Given the description of an element on the screen output the (x, y) to click on. 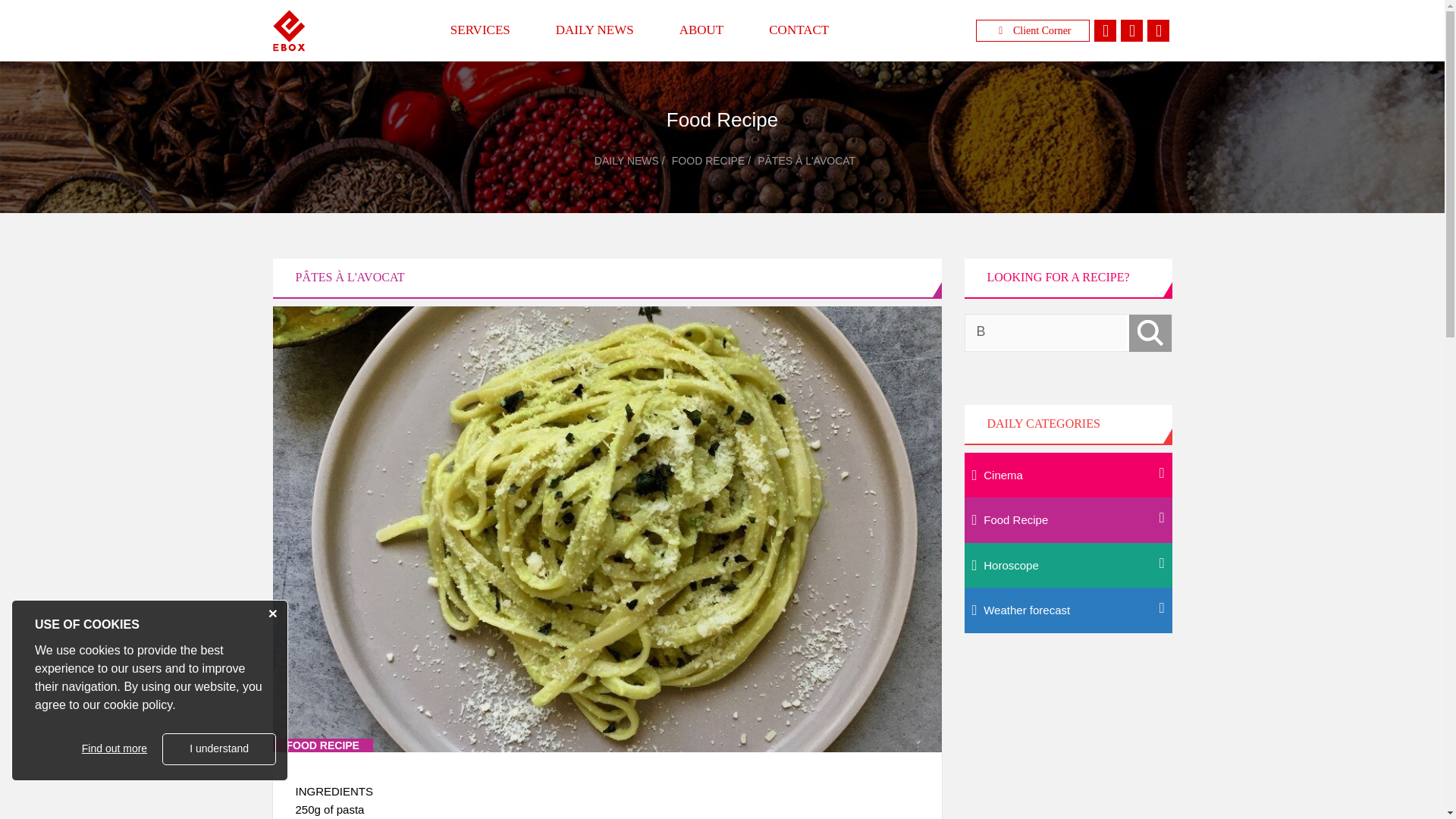
Services (480, 30)
About (701, 30)
Cinema (1067, 474)
CONTACT (798, 30)
Contact (798, 30)
ABOUT (701, 30)
DAILY NEWS (626, 160)
Horoscope (1067, 565)
DAILY NEWS (594, 30)
Weather forecast (1067, 610)
Advertisement (1067, 741)
FOOD RECIPE (707, 160)
Client Corner (1032, 30)
Food Recipe (1067, 519)
Daily News (594, 30)
